Given the description of an element on the screen output the (x, y) to click on. 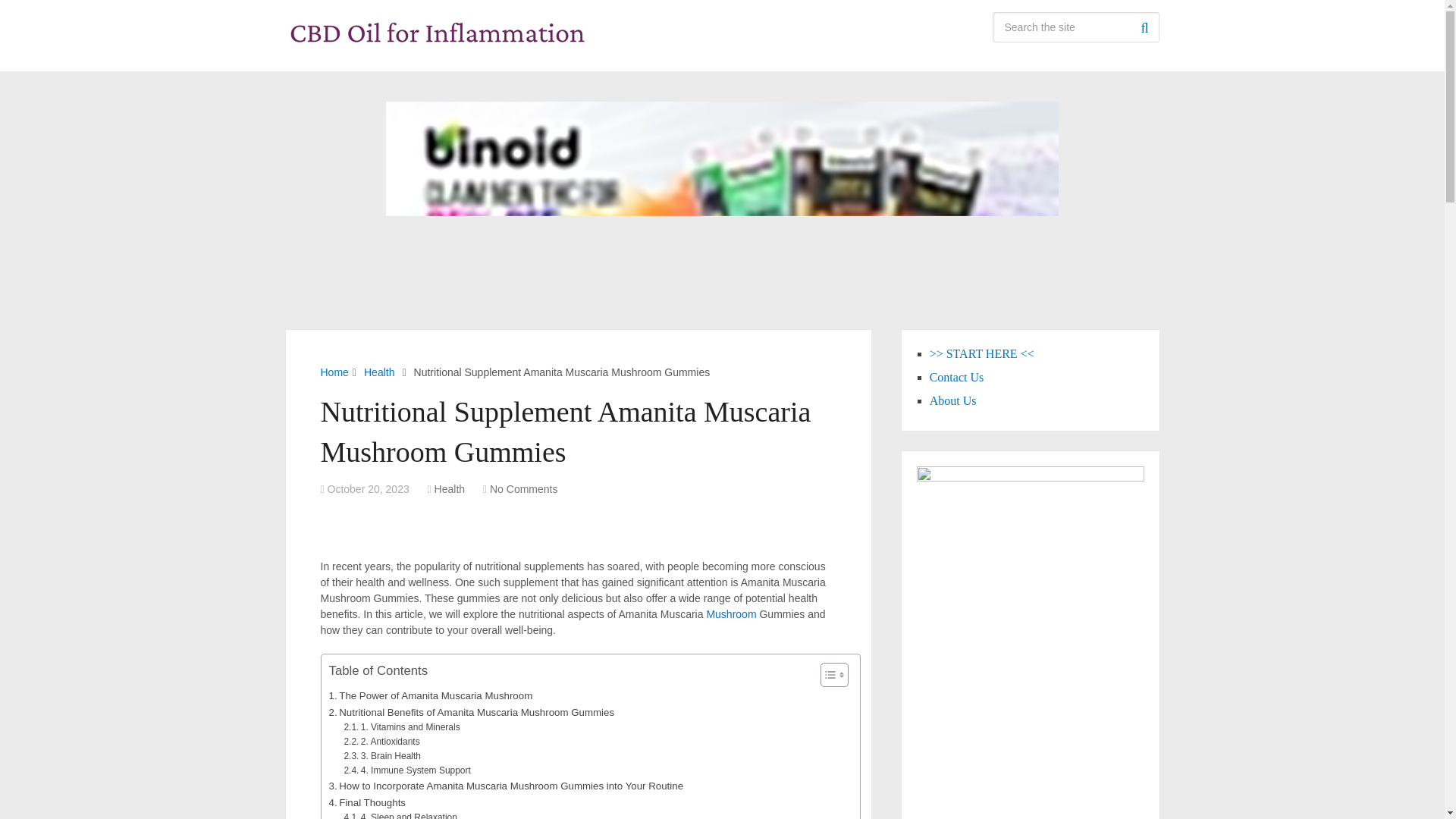
No Comments (523, 489)
The Power of Amanita Muscaria Mushroom (430, 695)
4. Sleep and Relaxation (400, 814)
The Power of Amanita Muscaria Mushroom (430, 695)
Home (333, 372)
Nutritional Benefits of Amanita Muscaria Mushroom Gummies (471, 711)
1. Vitamins and Minerals (401, 727)
4. Sleep and Relaxation (400, 814)
